Given the description of an element on the screen output the (x, y) to click on. 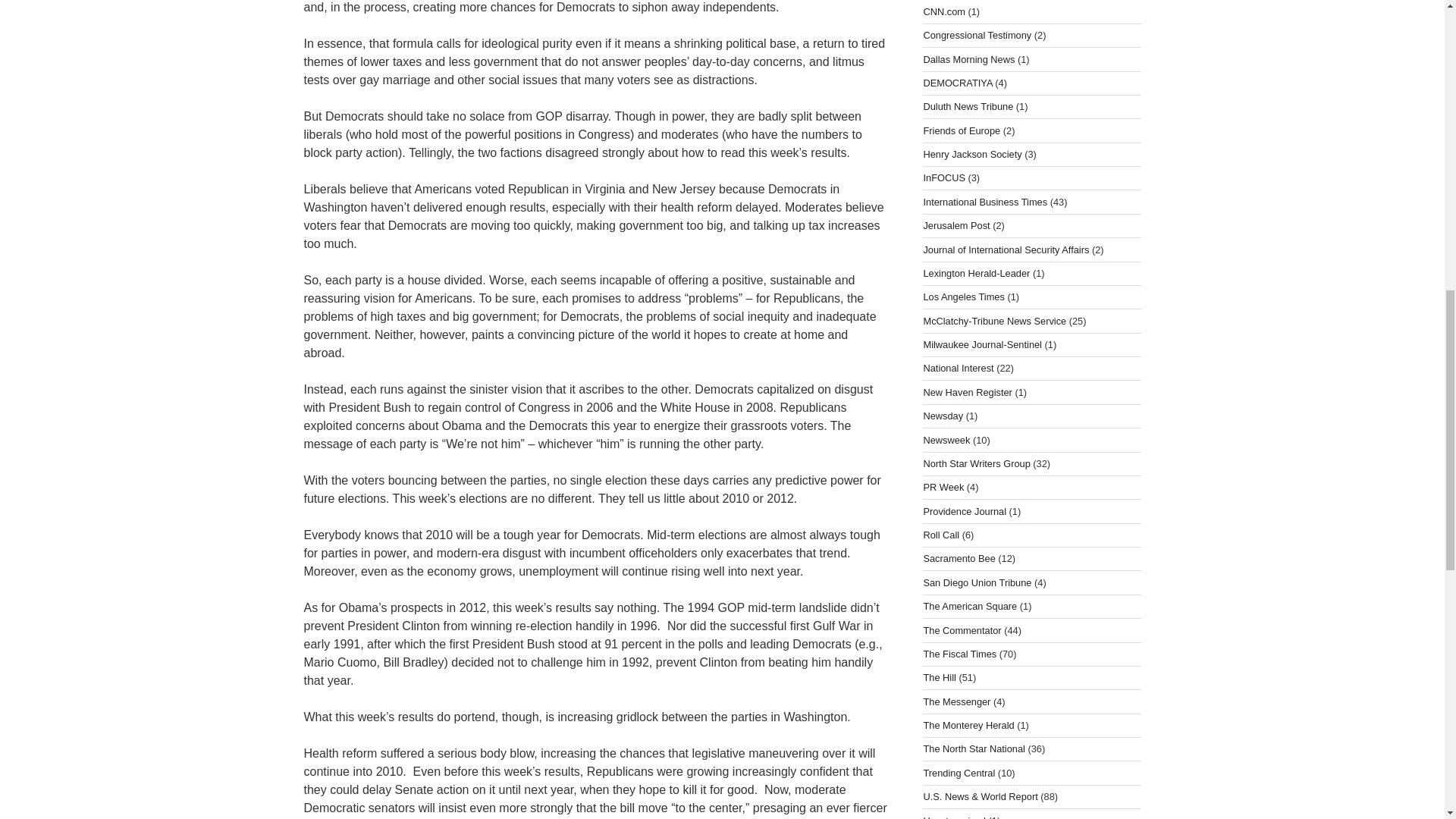
New Haven Register (967, 392)
Milwaukee Journal-Sentinel (982, 344)
Journal of International Security Affairs (1006, 249)
Jerusalem Post (956, 225)
Duluth News Tribune (968, 106)
Dallas Morning News (968, 59)
Newsweek (946, 439)
International Business Times (984, 202)
Newsday (942, 415)
Friends of Europe (961, 130)
Lexington Herald-Leader (976, 273)
North Star Writers Group (976, 463)
McClatchy-Tribune News Service (994, 320)
National Interest (957, 367)
CNN.com (943, 11)
